Given the description of an element on the screen output the (x, y) to click on. 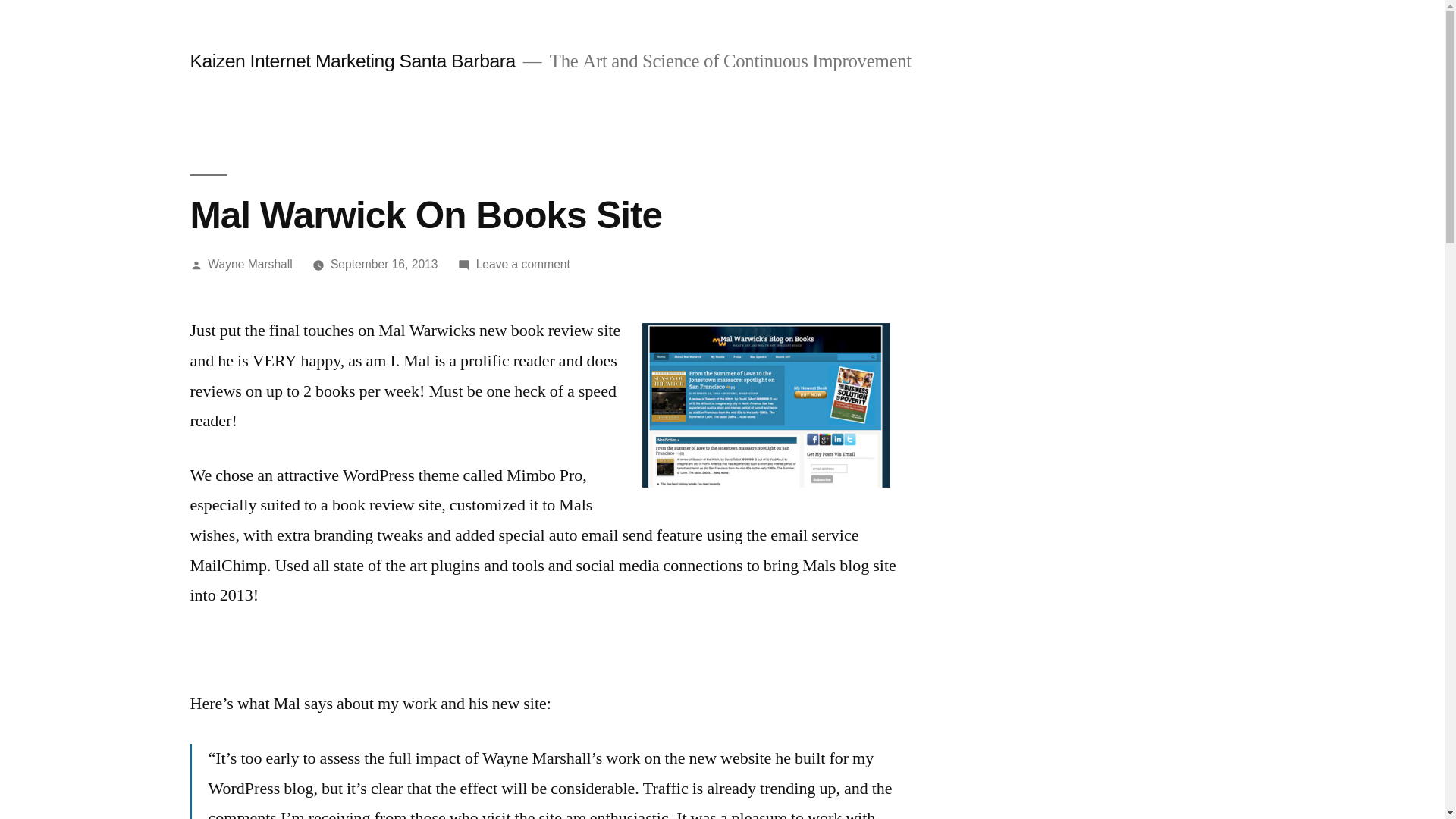
Wayne Marshall (250, 264)
Kaizen Internet Marketing Santa Barbara (352, 60)
September 16, 2013 (523, 264)
